Given the description of an element on the screen output the (x, y) to click on. 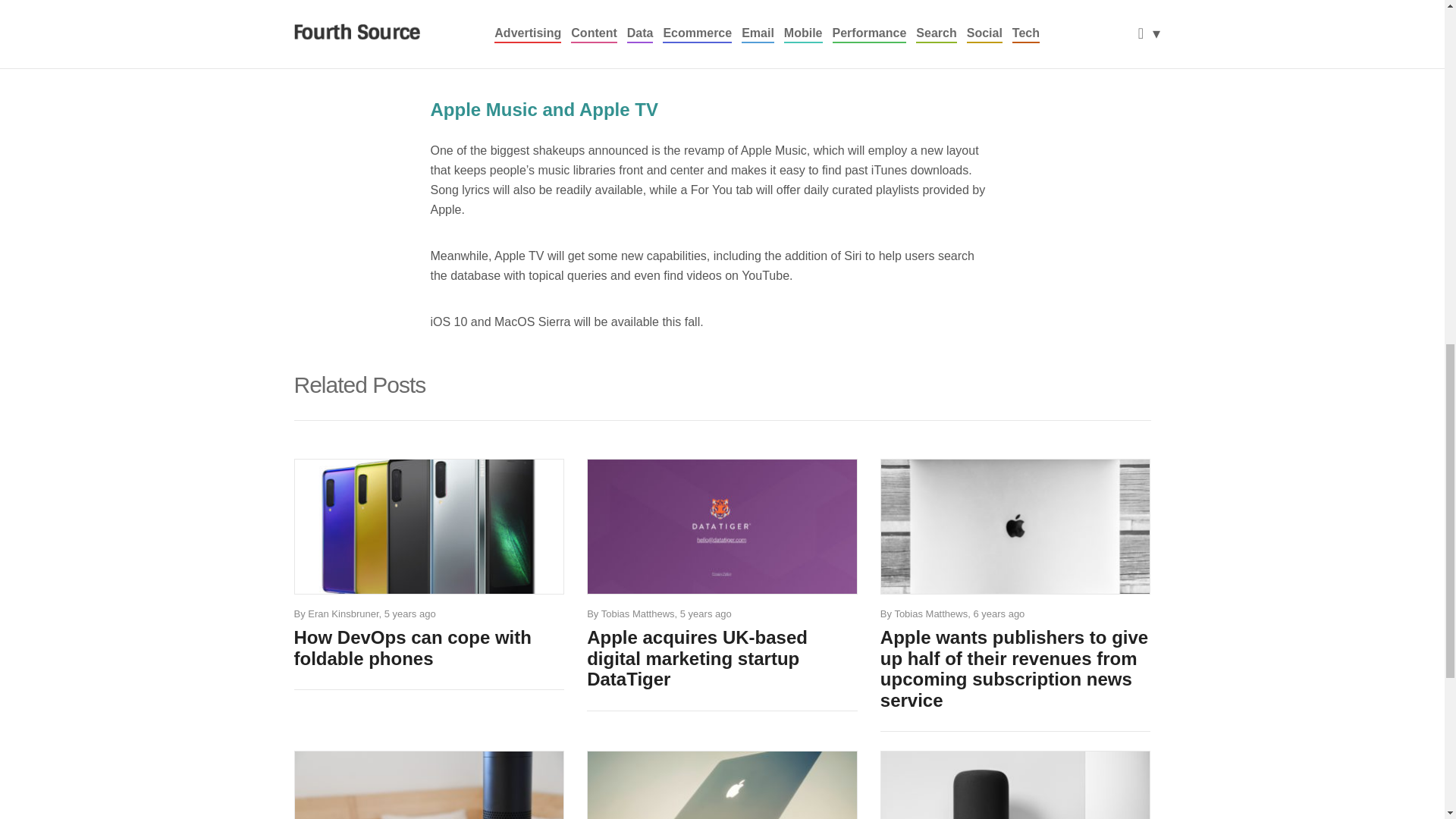
Apple acquires UK-based digital marketing startup DataTiger (721, 658)
How DevOps can cope with foldable phones (429, 648)
